Given the description of an element on the screen output the (x, y) to click on. 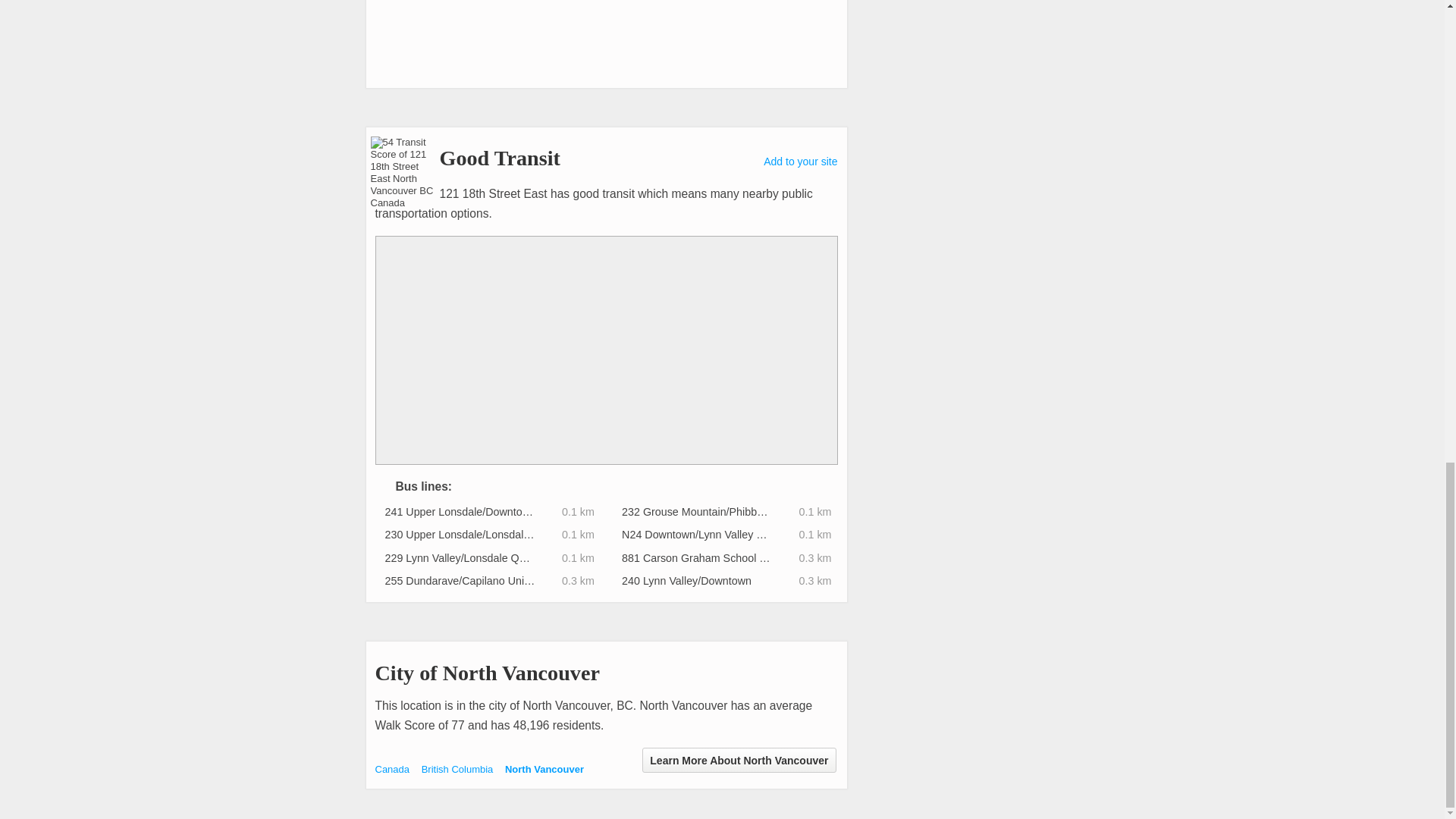
North Vancouver (544, 768)
Cities in British Columbia state (457, 768)
British Columbia (457, 768)
Canada Walkability Rankings (391, 768)
Canada (391, 768)
Add to your site (799, 161)
Learn More About North Vancouver (738, 760)
